Given the description of an element on the screen output the (x, y) to click on. 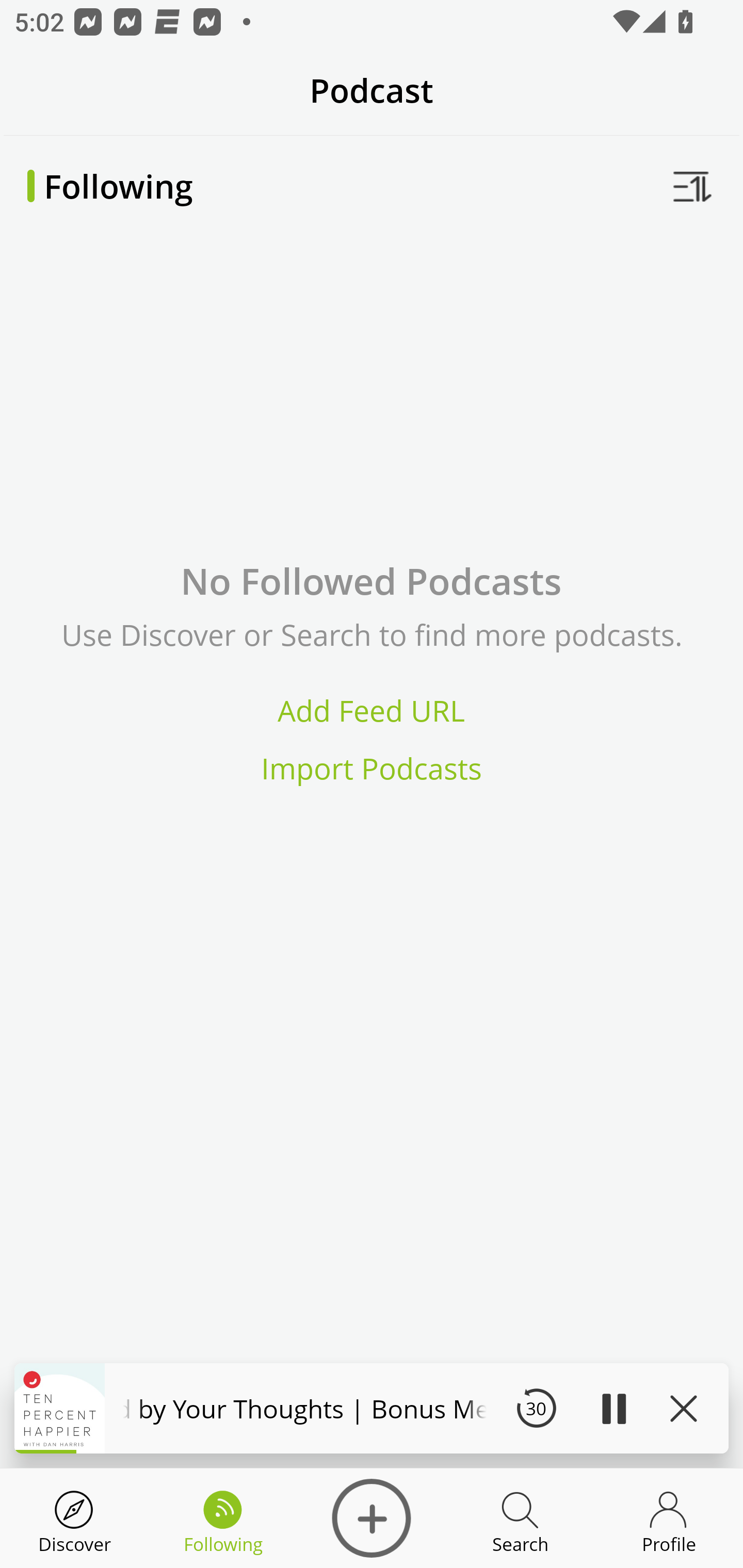
Add Feed URL (371, 709)
Import Podcasts (371, 767)
Play (613, 1407)
30 Seek Backward (536, 1407)
Discover (74, 1518)
Discover (371, 1518)
Discover Search (519, 1518)
Discover Profile (668, 1518)
